Given the description of an element on the screen output the (x, y) to click on. 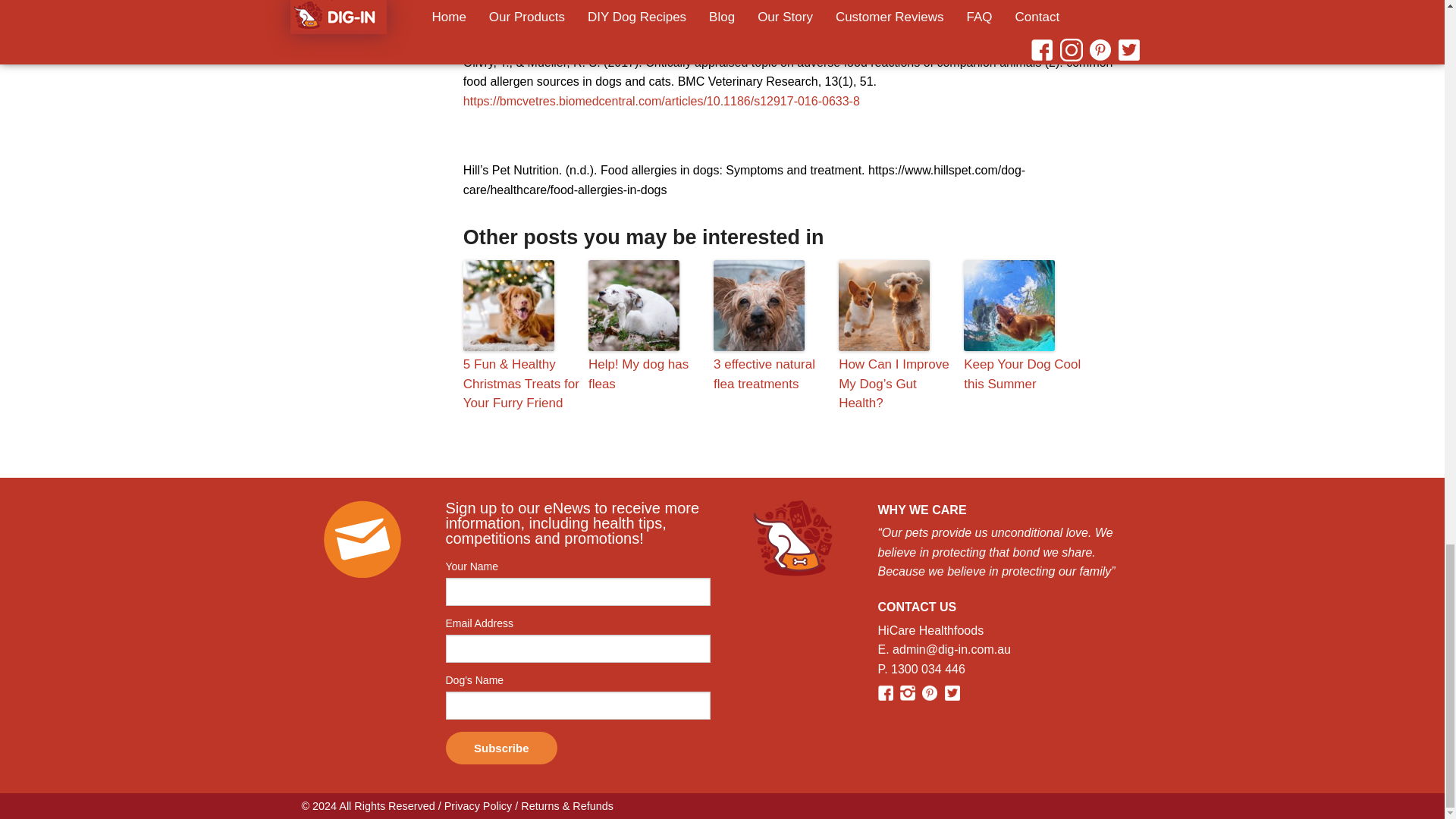
Dig-In Privacy Policy (478, 806)
Share with us on Pinterest (930, 691)
Subscribe (501, 748)
See us on Instagram (908, 691)
3 effective natural flea treatments (772, 373)
Find us on Facebook (886, 691)
Help! My dog has fleas (647, 373)
Keep Your Dog Cool this Summer (1022, 373)
